Given the description of an element on the screen output the (x, y) to click on. 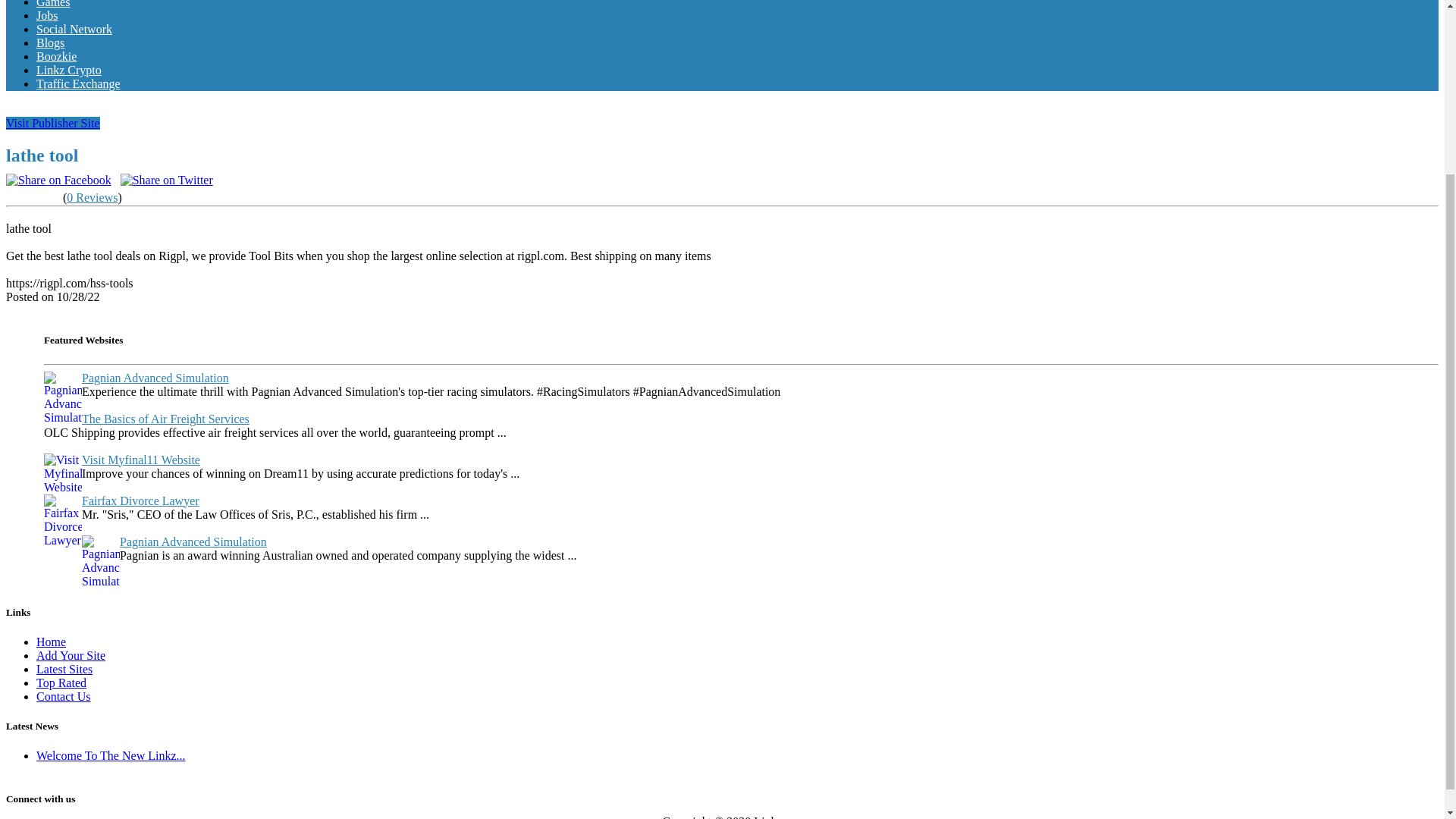
Latest Sites (64, 668)
Add Your Site (70, 655)
Contact Us (63, 696)
Top Rated (60, 682)
Pagnian Advanced Simulation (154, 377)
Visit Publisher Site (52, 123)
Traffic Exchange (78, 83)
Linkz Crypto (68, 69)
Visit Myfinal11 Website (140, 459)
Games (52, 4)
